Given the description of an element on the screen output the (x, y) to click on. 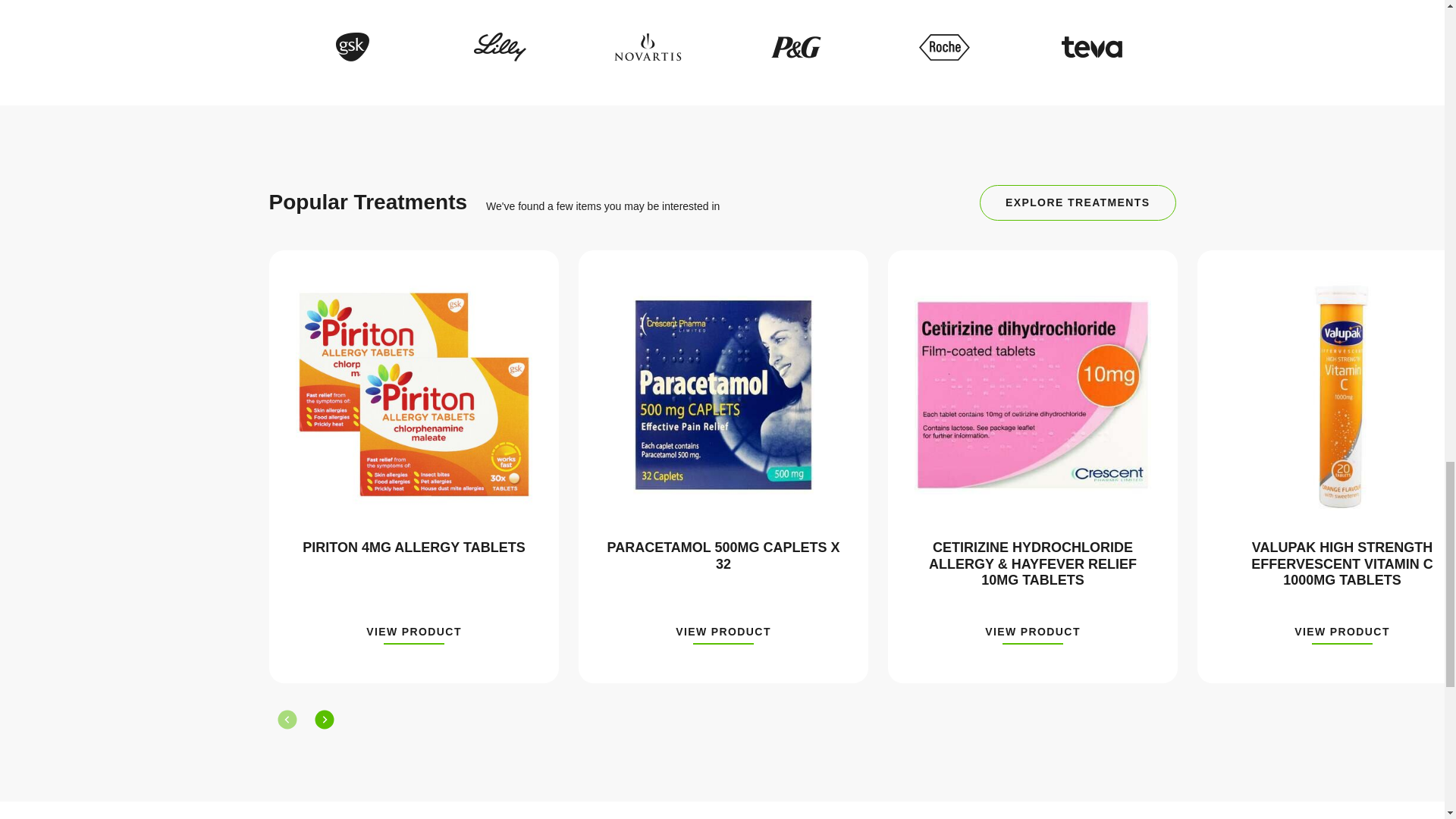
View product (1342, 634)
View product (1032, 634)
View product (723, 634)
View product (414, 634)
